Given the description of an element on the screen output the (x, y) to click on. 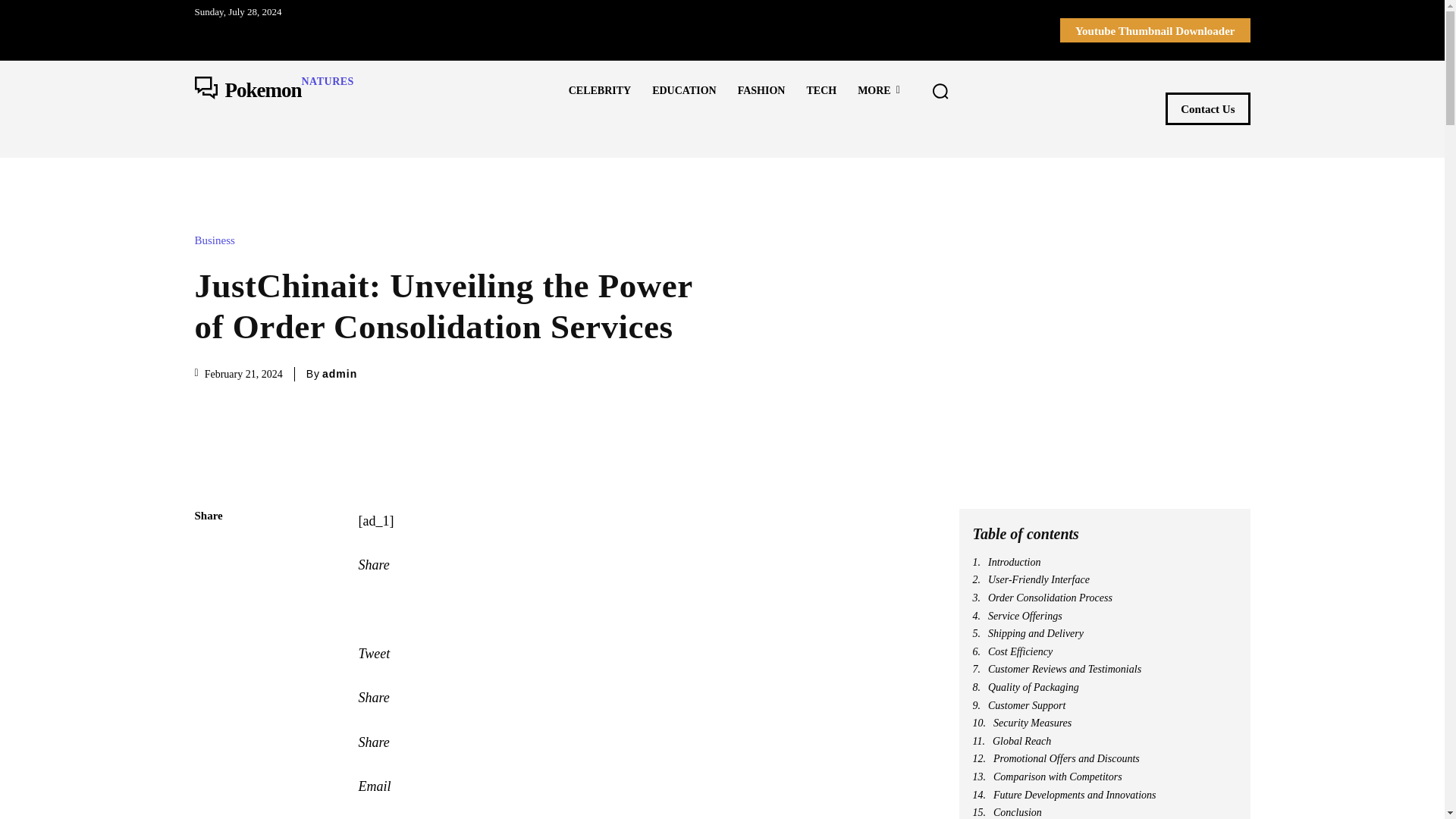
Order Consolidation Process (1104, 598)
Quality of Packaging (1104, 687)
Shipping and Delivery (1104, 633)
Contact Us (1207, 108)
Tweet This Post (639, 653)
Global Reach (1104, 741)
admin (338, 373)
Customer Support (1104, 705)
Business (217, 240)
TECH (820, 90)
Youtube Thumbnail Downloader (1154, 30)
Future Developments and Innovations (1104, 794)
FASHION (761, 90)
Customer Reviews and Testimonials (1104, 669)
MORE (879, 90)
